Given the description of an element on the screen output the (x, y) to click on. 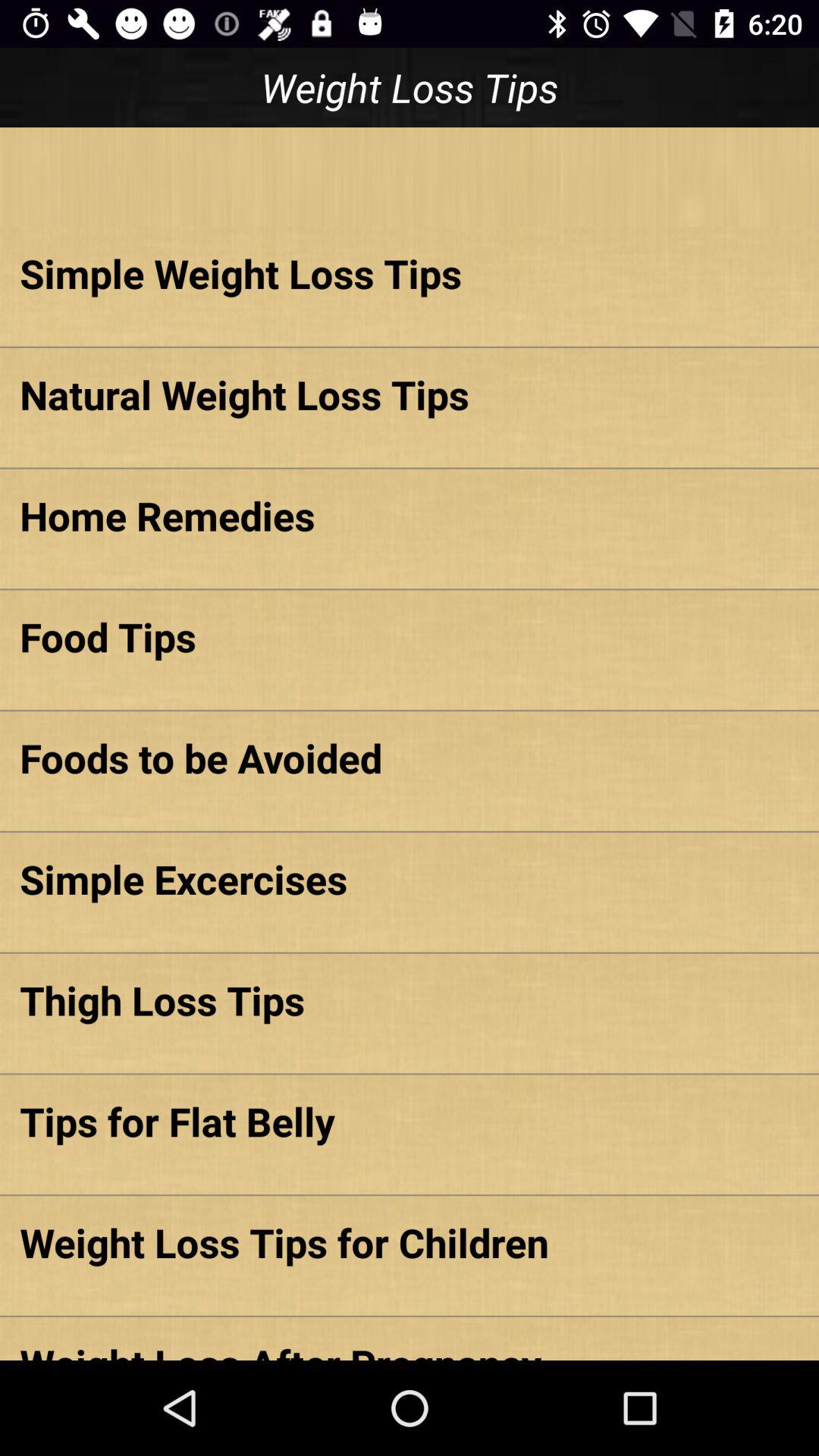
select app above foods to be item (409, 636)
